Given the description of an element on the screen output the (x, y) to click on. 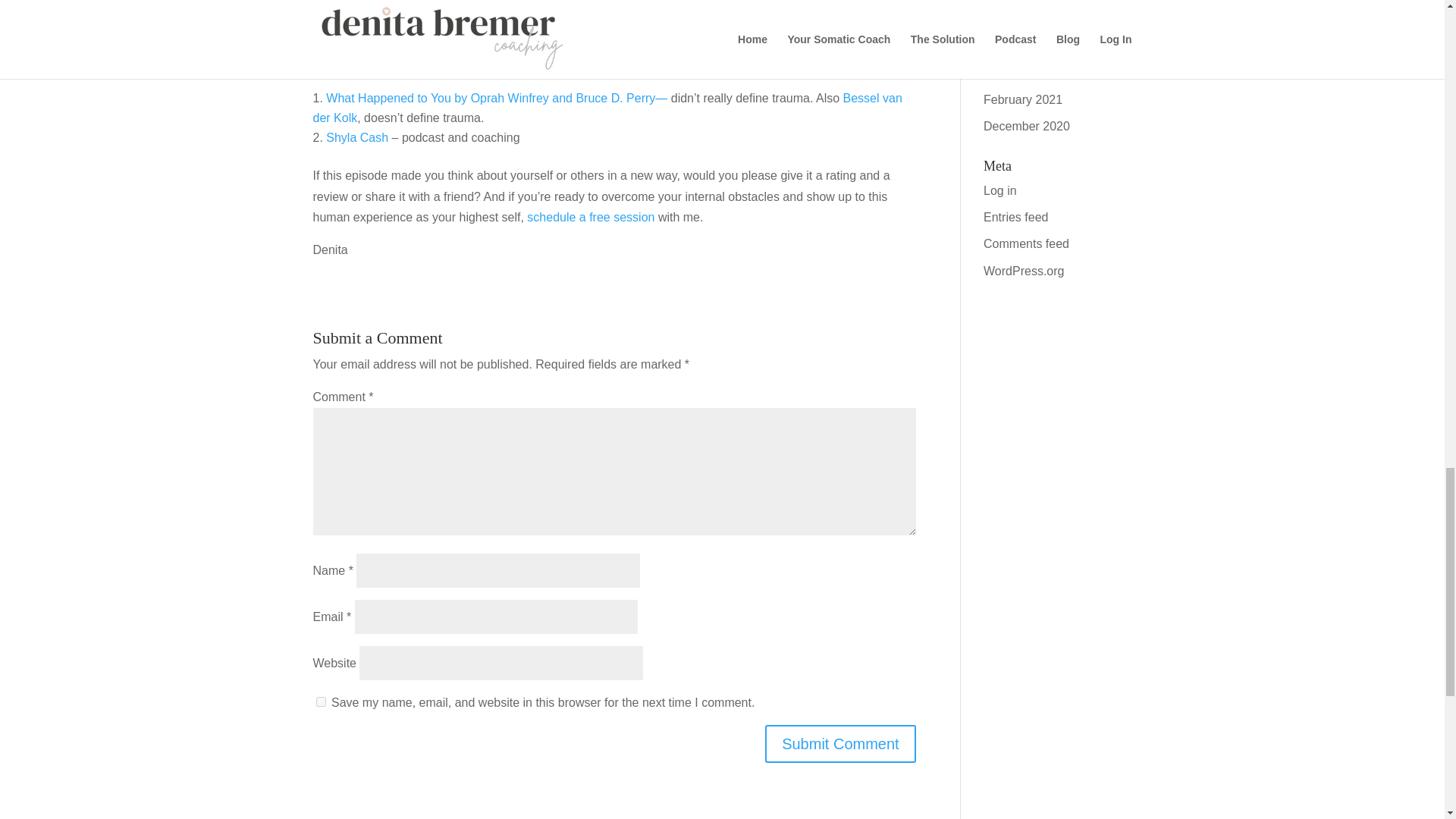
trauma that has been unresolved (566, 24)
Submit Comment (840, 743)
Submit Comment (840, 743)
schedule a free session (592, 216)
Shyla Cash (357, 137)
Bessel van der Kolk (607, 107)
yes (319, 701)
